Given the description of an element on the screen output the (x, y) to click on. 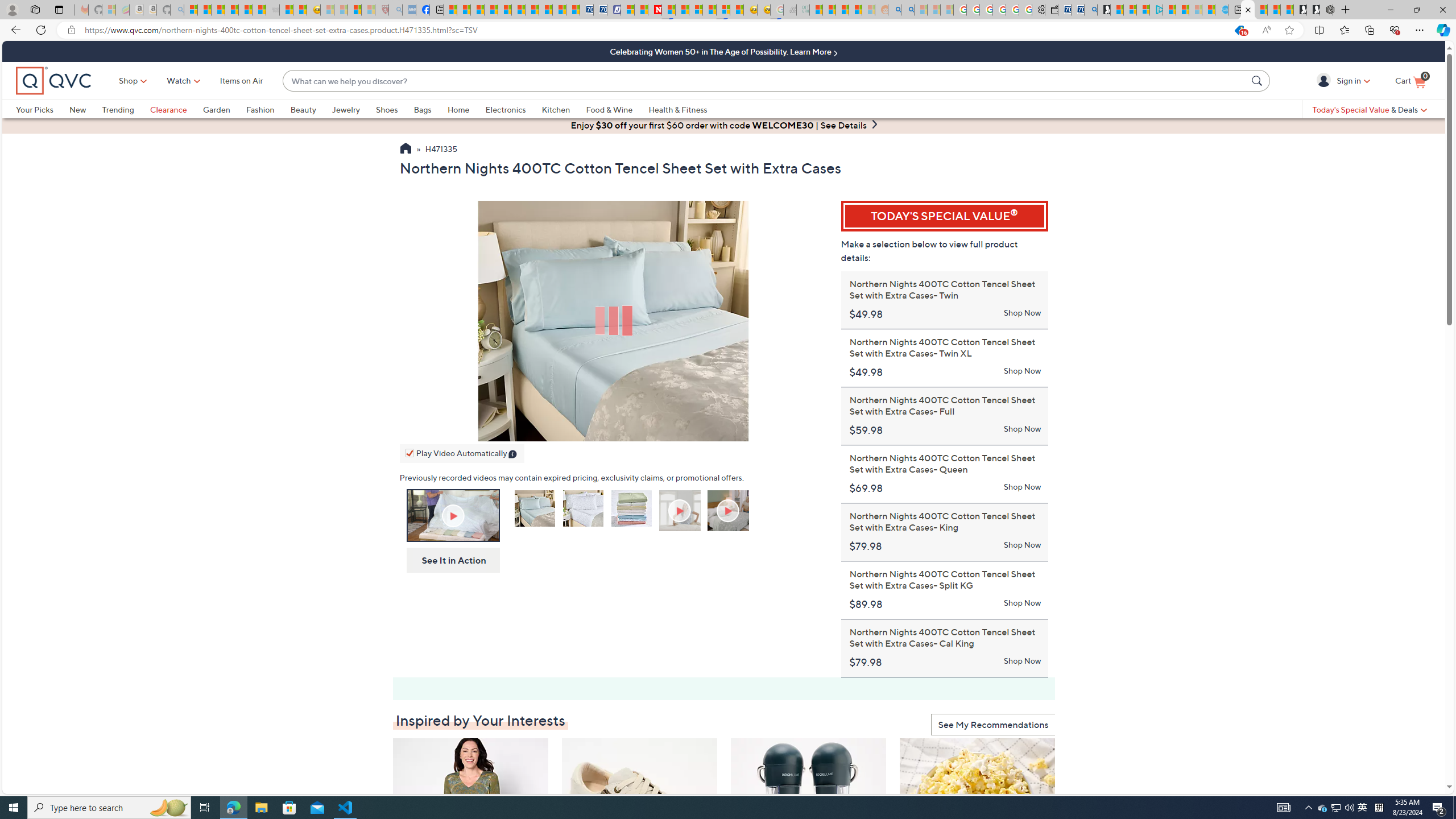
See My Recommendations (992, 724)
Jewelry (353, 109)
Cart is Empty  (1409, 81)
Shoes (394, 109)
Garden (224, 109)
